Given the description of an element on the screen output the (x, y) to click on. 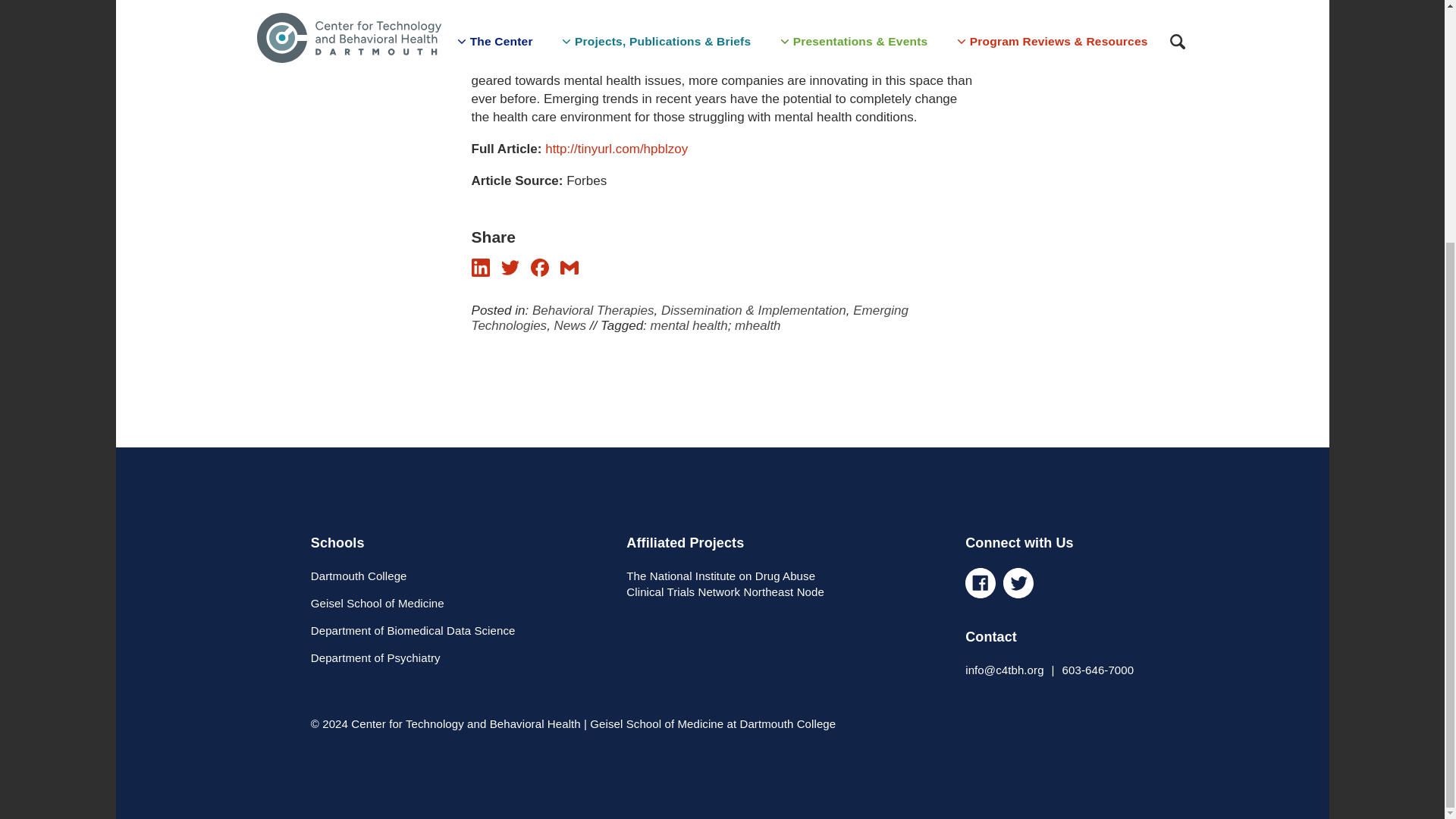
Twitter (509, 272)
Geisel School of Medicine (377, 603)
Emerging Technologies (689, 317)
News (570, 325)
Behavioral Therapies (592, 310)
Gmail (569, 272)
Facebook (539, 272)
Gmail (569, 267)
Facebook (539, 267)
mental health (689, 325)
LinkedIn (480, 267)
Twitter (509, 267)
LinkedIn (480, 272)
mhealth (757, 325)
Dartmouth College (359, 575)
